Given the description of an element on the screen output the (x, y) to click on. 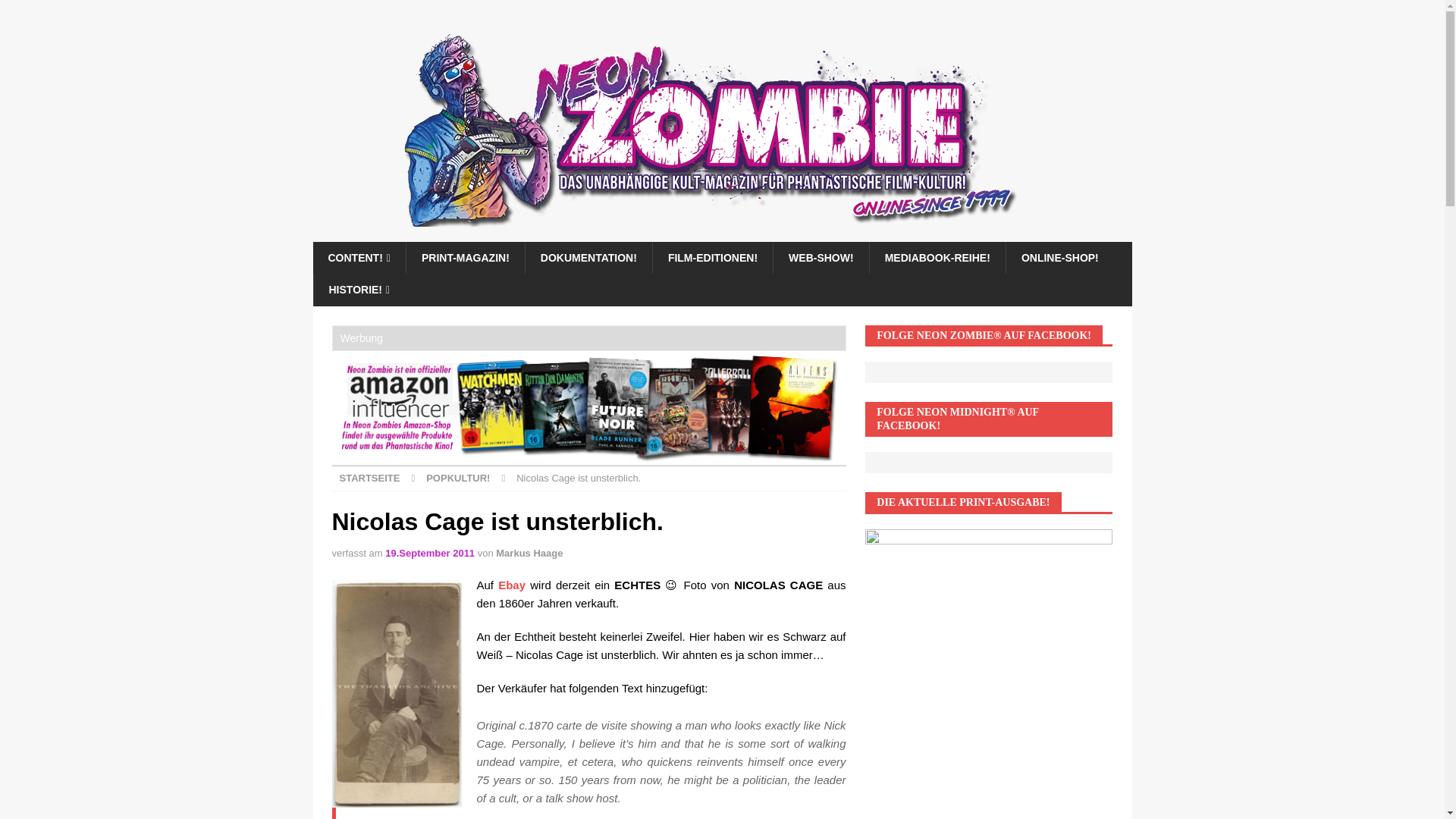
DOKUMENTATION! (588, 257)
Ebay (511, 584)
STARTSEITE (369, 478)
CONTENT! (358, 257)
PRINT-MAGAZIN! (465, 257)
ONLINE-SHOP! (1059, 257)
FILM-EDITIONEN! (712, 257)
HISTORIE! (358, 289)
POPKULTUR! (457, 478)
MEDIABOOK-REIHE! (937, 257)
